Given the description of an element on the screen output the (x, y) to click on. 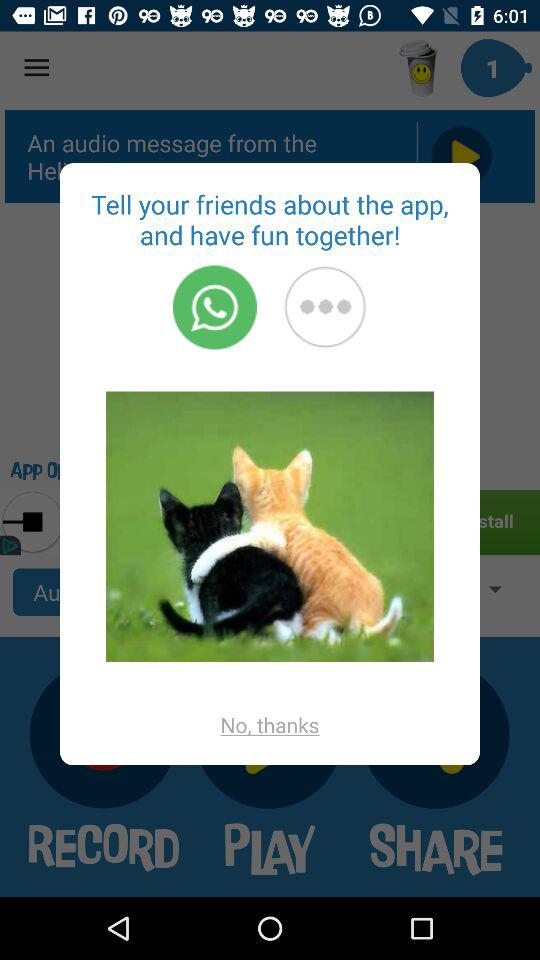
open whatsapp (214, 307)
